Given the description of an element on the screen output the (x, y) to click on. 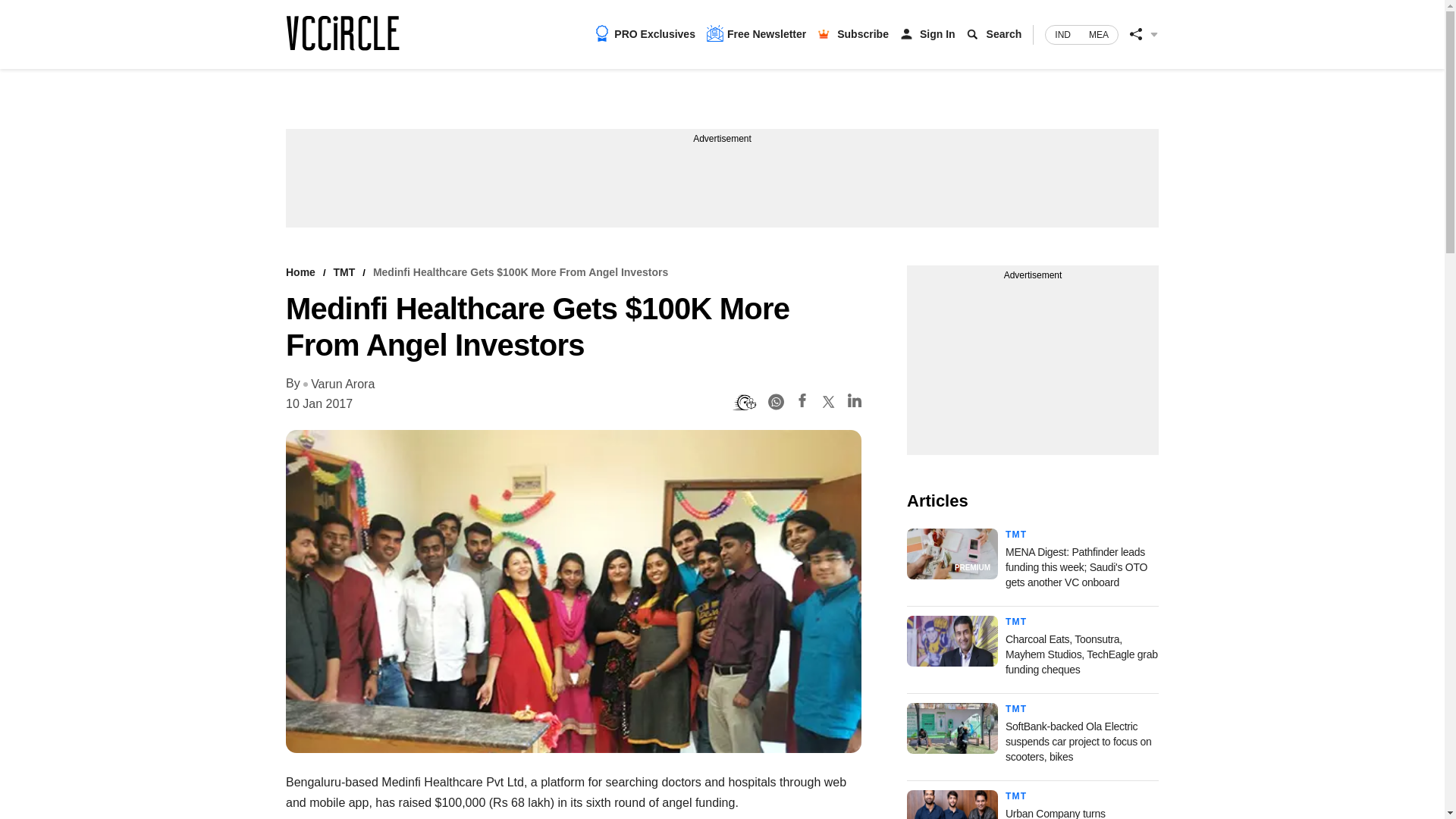
IND (1062, 34)
Free Newsletter (756, 33)
Varun Arora (338, 384)
Subscribe (862, 33)
PRO Exclusives (644, 33)
TMT (1016, 621)
Sign In (937, 33)
Stay Home. Read Quality News (341, 32)
TMT (1016, 534)
Search (1004, 33)
MEA (1099, 34)
TMT (344, 272)
Home (300, 272)
